Given the description of an element on the screen output the (x, y) to click on. 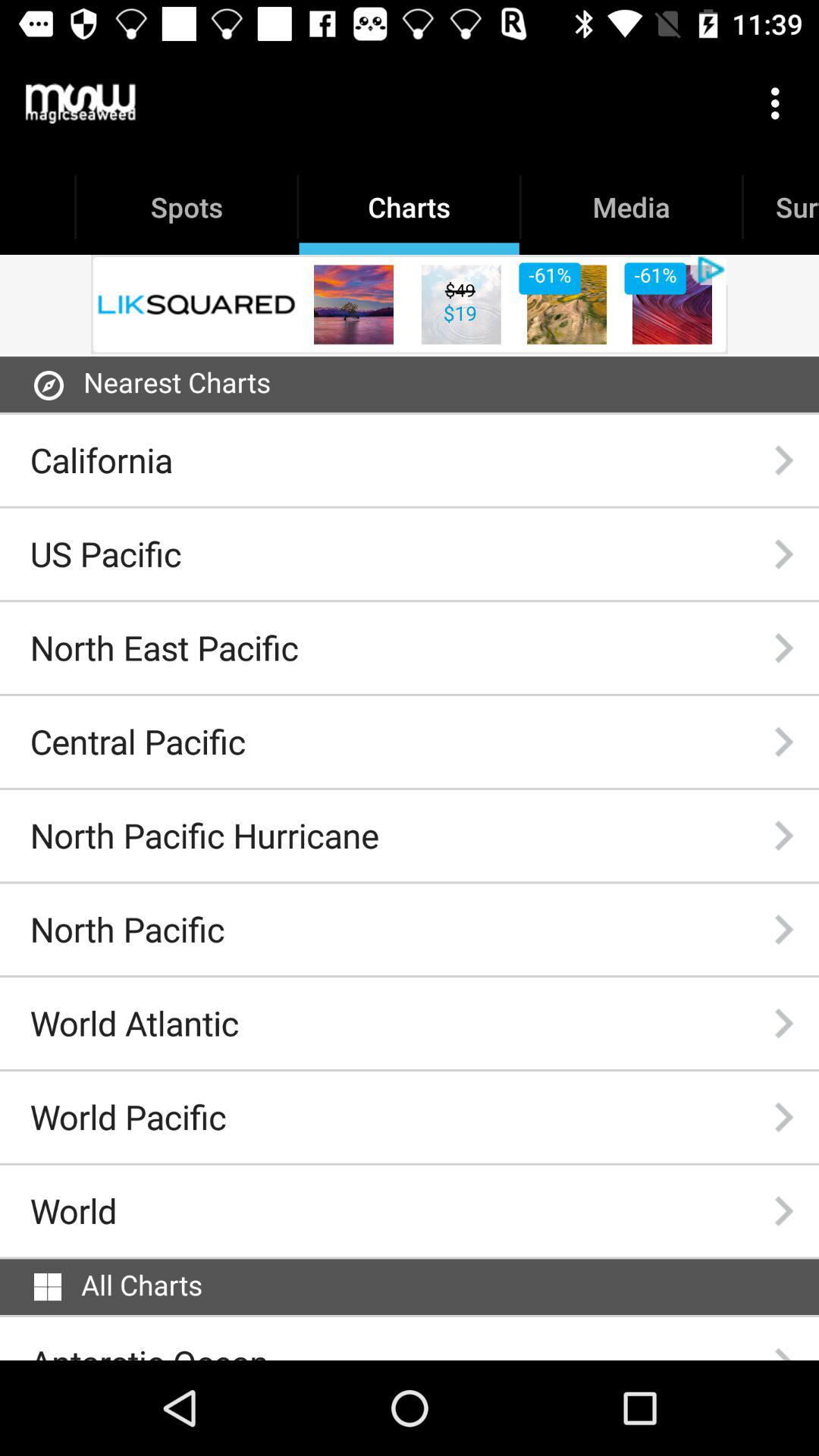
open item to the left of nearest charts (48, 385)
